Given the description of an element on the screen output the (x, y) to click on. 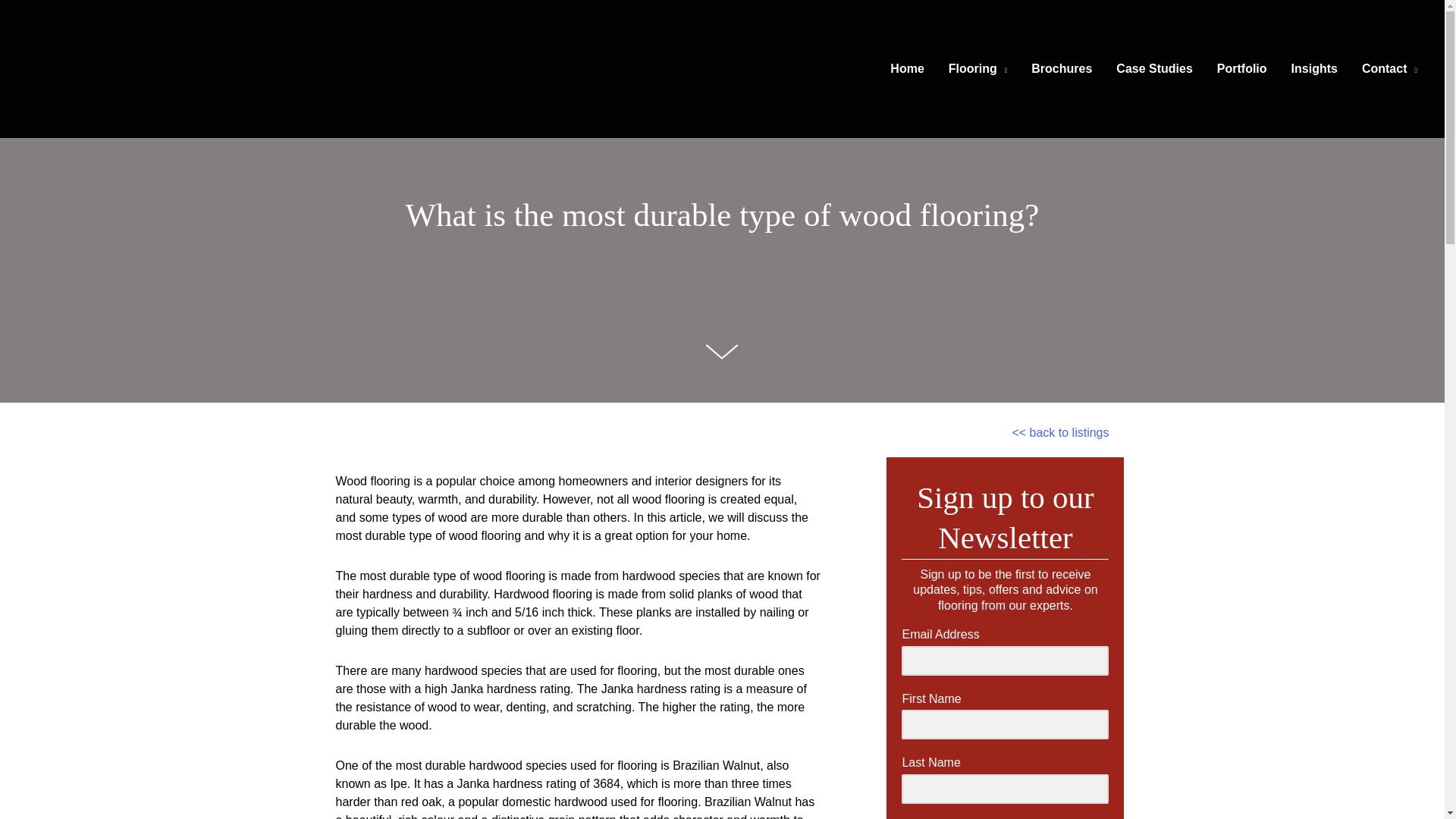
Contact (1389, 68)
Insights (1314, 68)
Portfolio (1242, 68)
Case Studies (1153, 68)
Brochures (1061, 68)
Home (906, 68)
Flooring (978, 68)
